Given the description of an element on the screen output the (x, y) to click on. 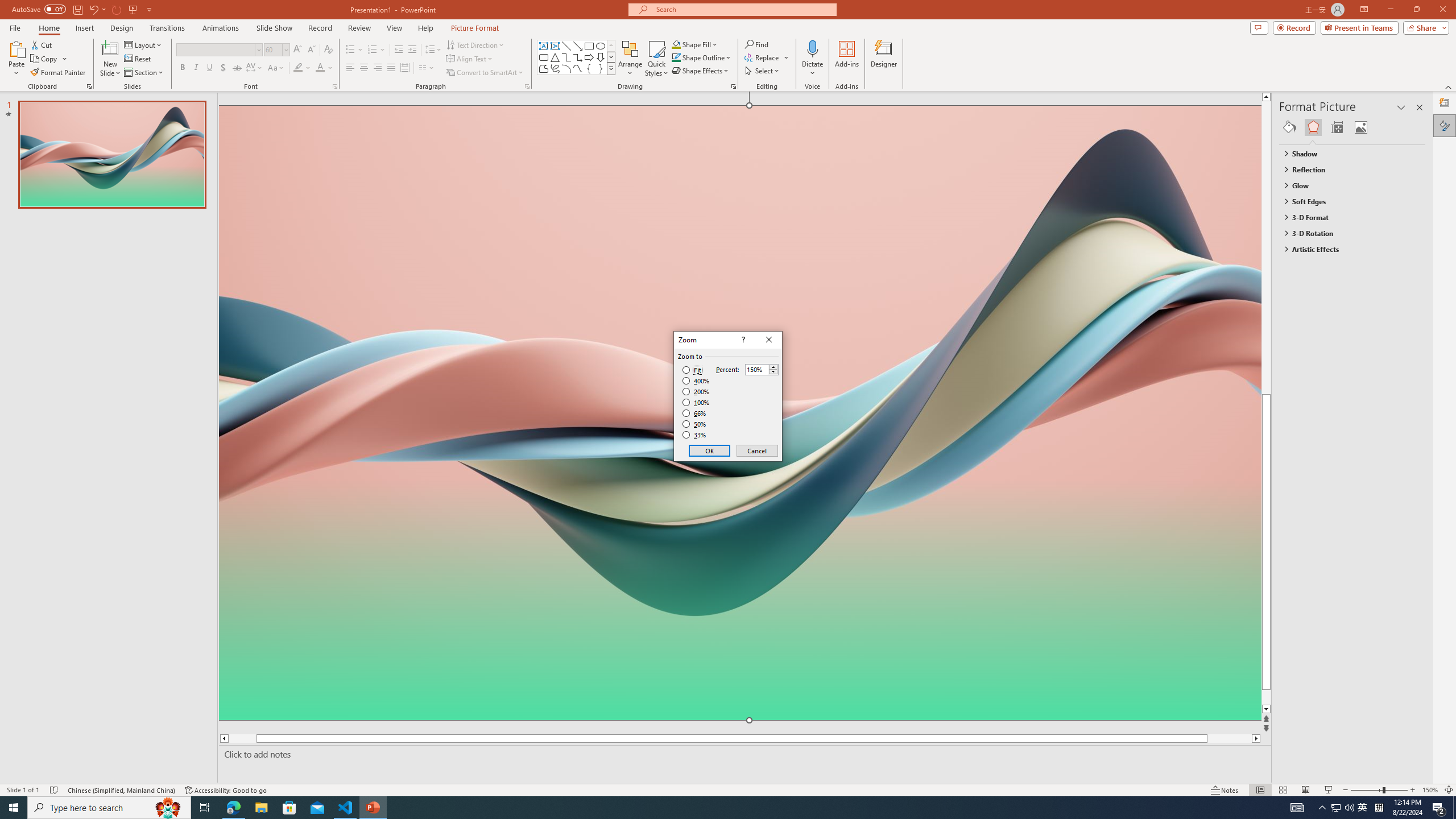
3-D Rotation (1347, 232)
Percent (761, 369)
Context help (742, 339)
